Given the description of an element on the screen output the (x, y) to click on. 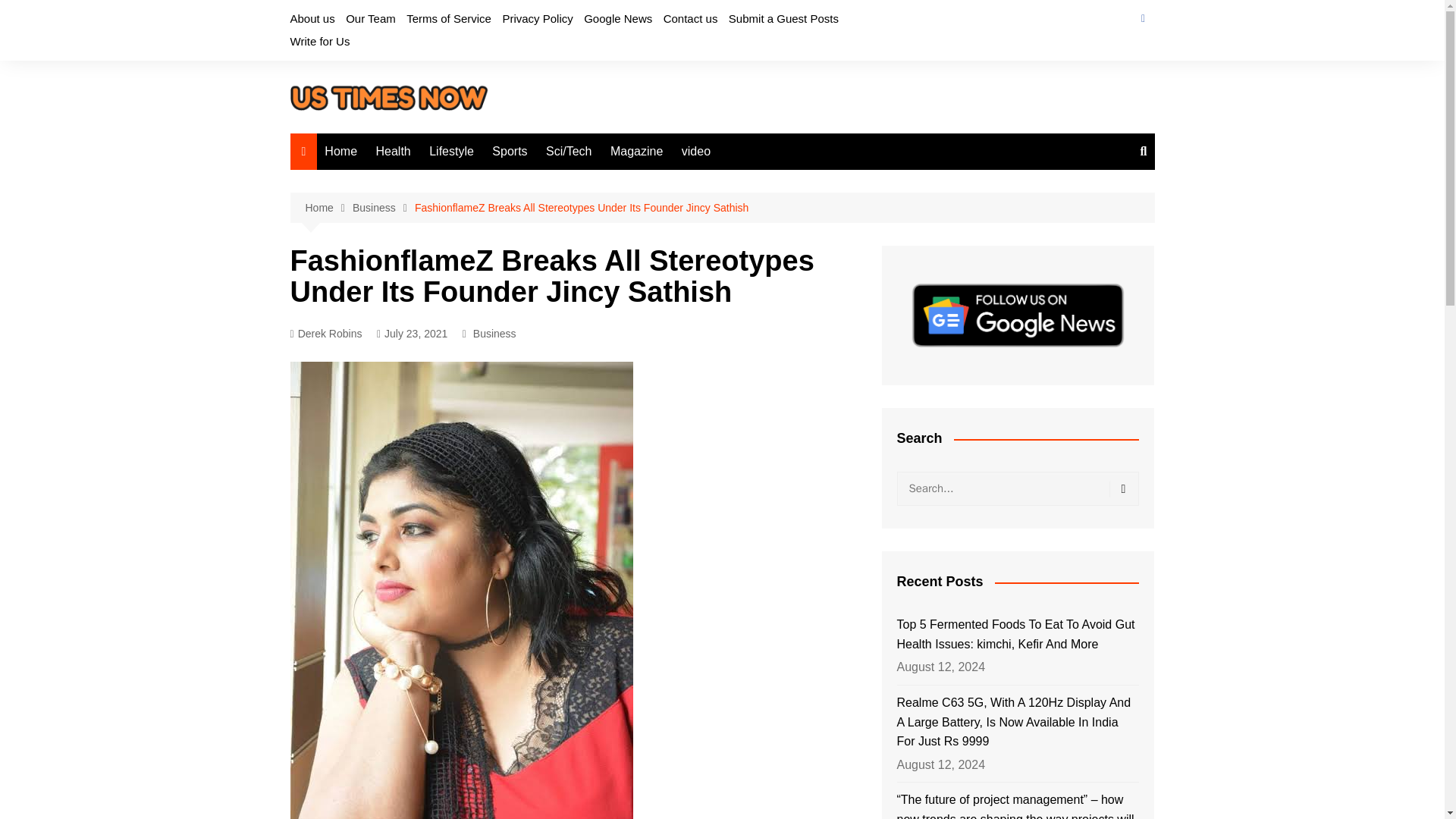
Write for Us (319, 41)
Business (383, 208)
Terms of Service (449, 18)
Google News (617, 18)
Home (341, 151)
Home (328, 208)
Contact us (690, 18)
Magazine (635, 151)
Derek Robins (325, 334)
